Given the description of an element on the screen output the (x, y) to click on. 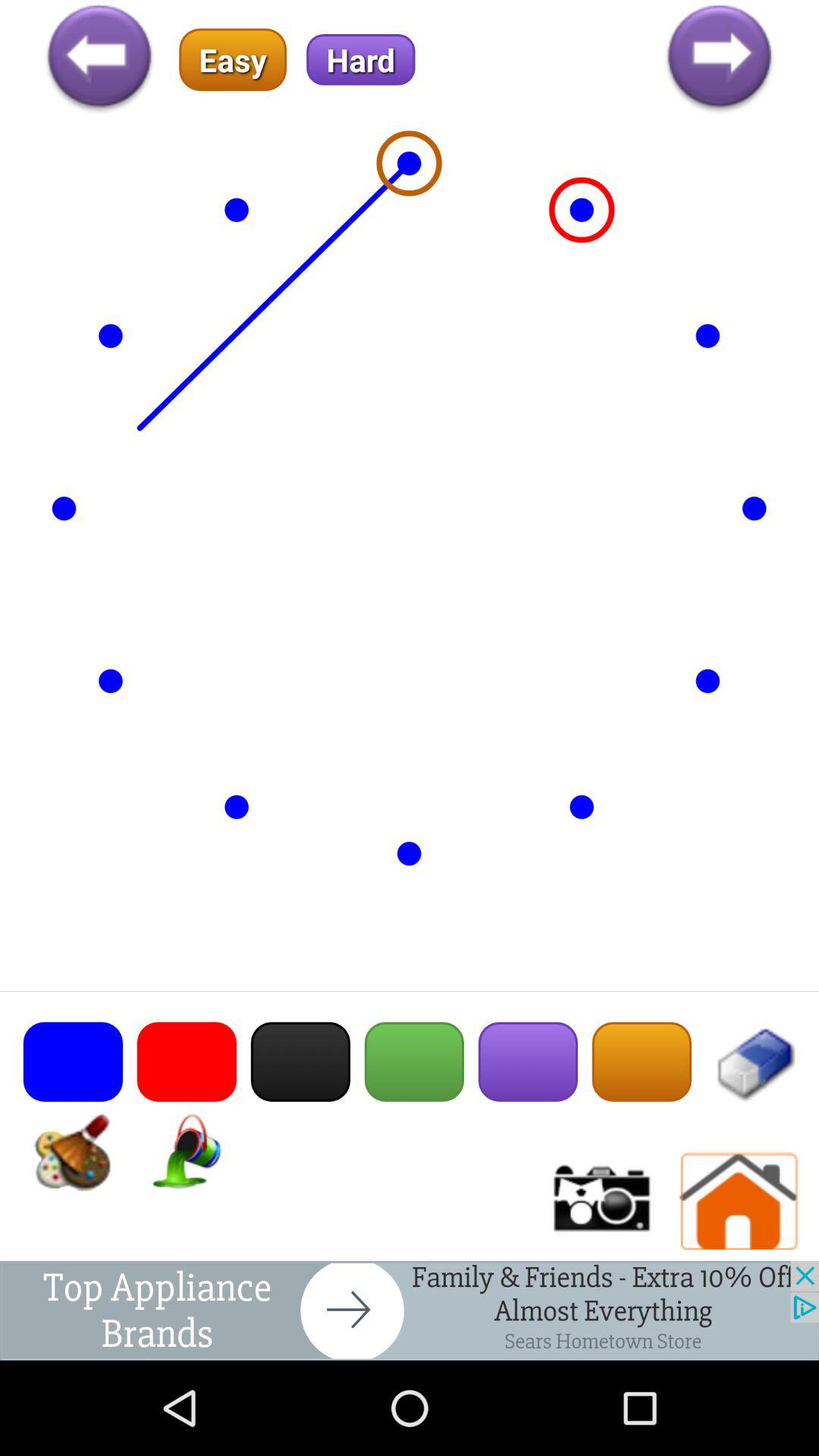
go next option (719, 59)
